Given the description of an element on the screen output the (x, y) to click on. 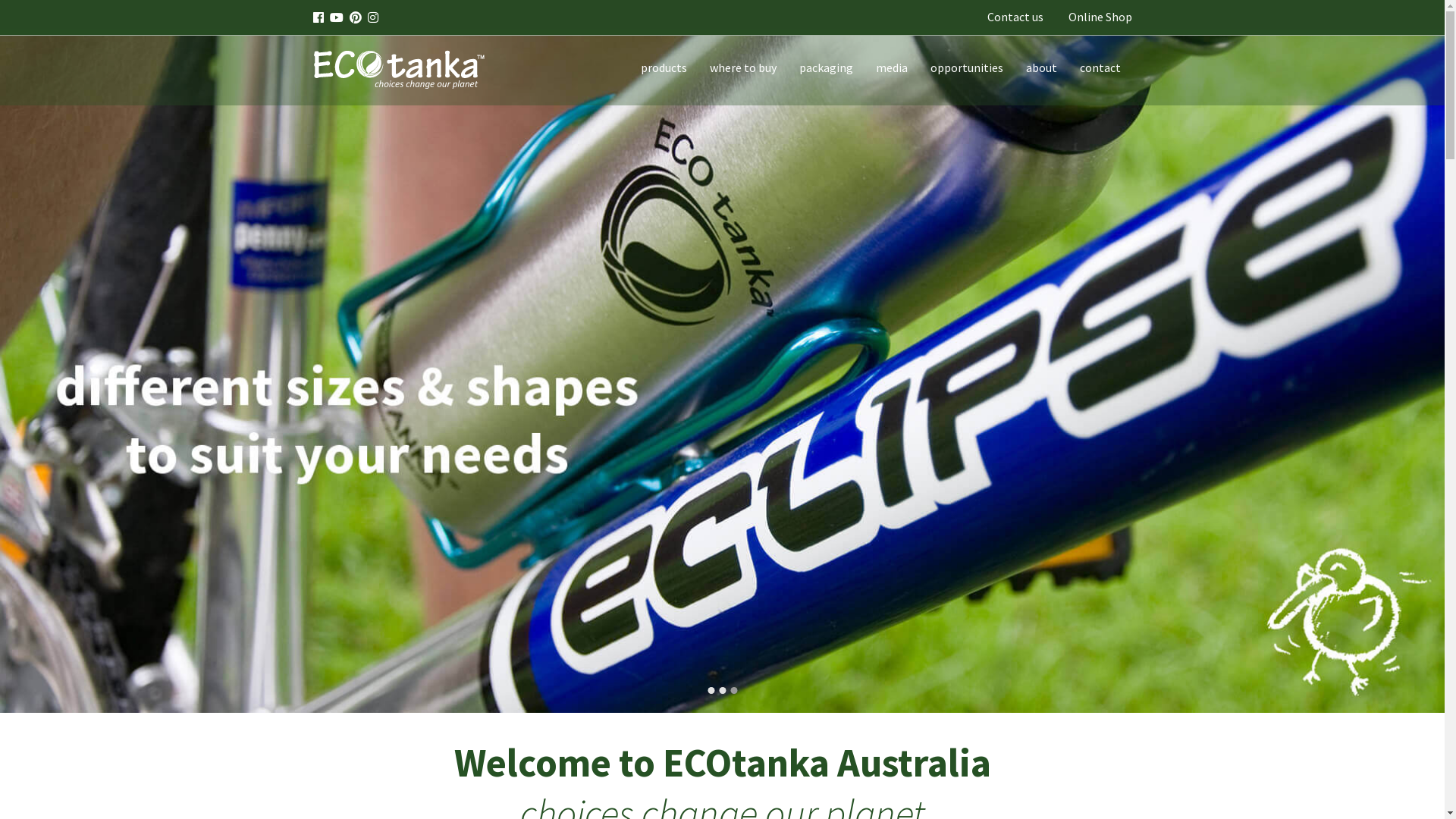
youtube Element type: text (335, 17)
instagram Element type: text (372, 17)
facebook Element type: text (317, 17)
Online Shop Element type: text (1099, 16)
about Element type: text (1041, 67)
ECOtanka Element type: hover (722, 373)
Skip to main content Element type: text (0, 0)
where to buy Element type: text (742, 67)
packaging Element type: text (825, 67)
opportunities Element type: text (966, 67)
Contact us Element type: text (1015, 16)
products Element type: text (663, 67)
media Element type: text (891, 67)
contact Element type: text (1099, 67)
Home Element type: hover (403, 67)
pinterest Element type: text (354, 17)
